Given the description of an element on the screen output the (x, y) to click on. 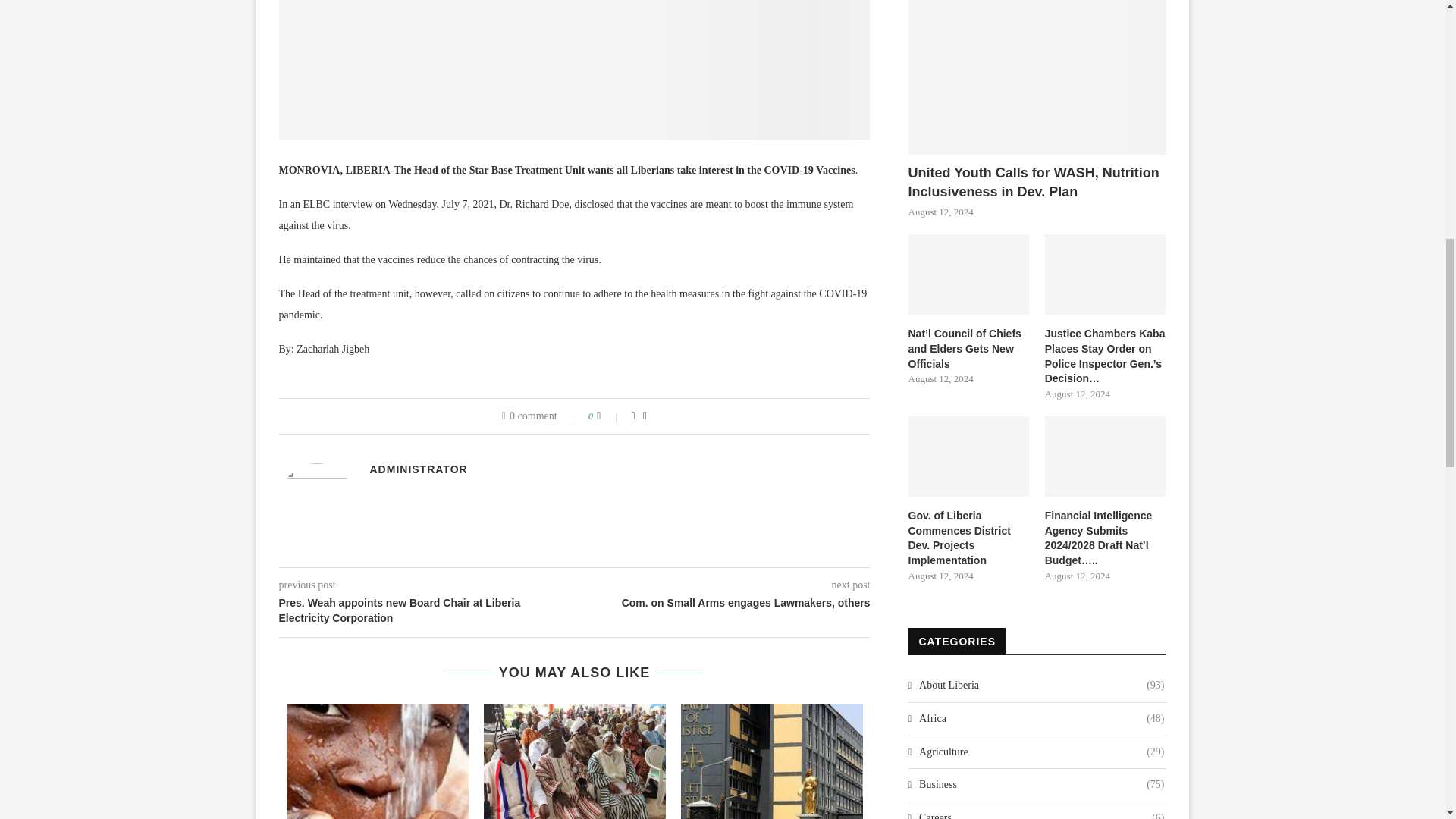
Like (608, 416)
SHHHH (574, 70)
Author Administrator (418, 469)
